Given the description of an element on the screen output the (x, y) to click on. 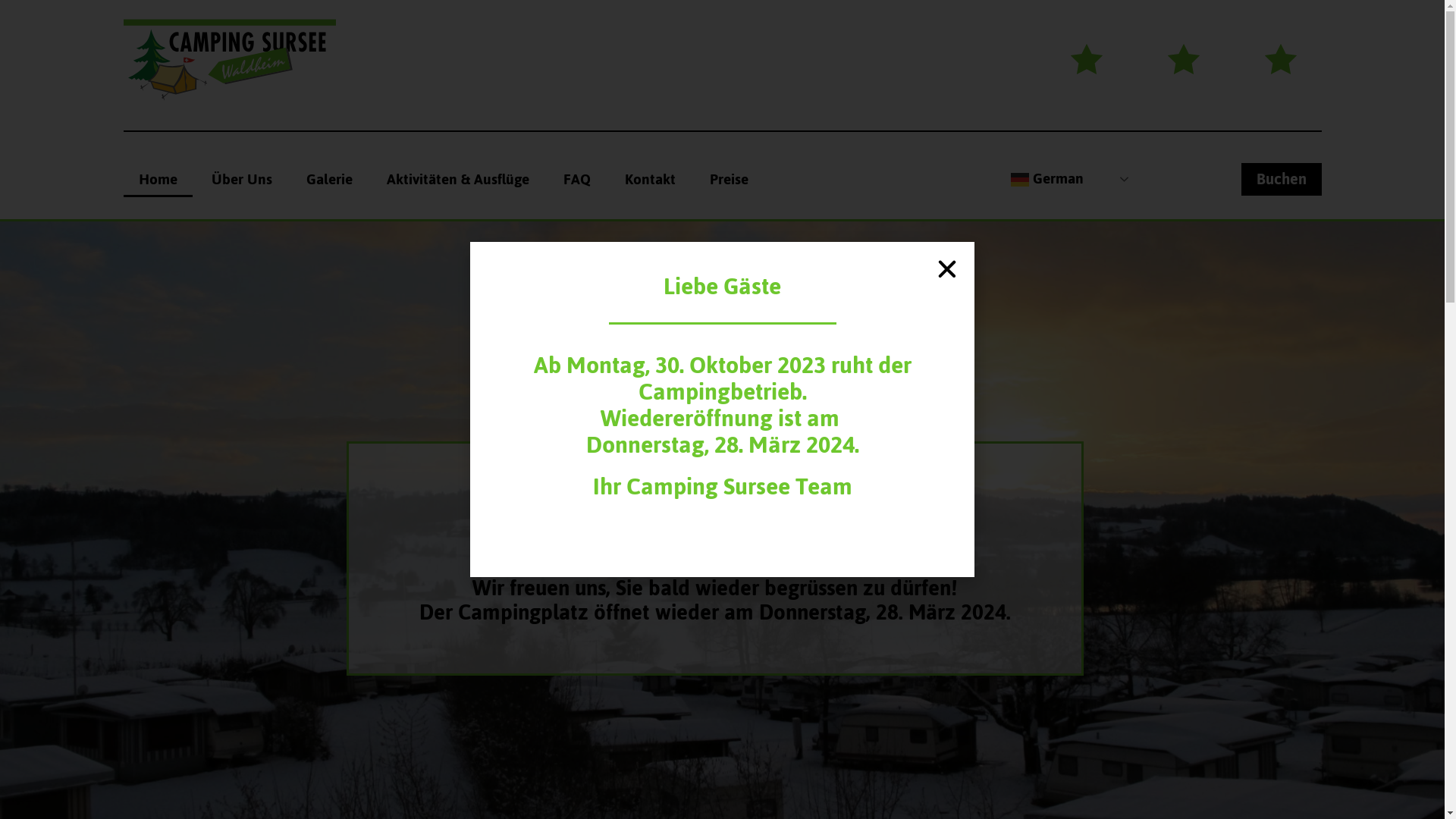
Buchen Element type: text (1280, 179)
Home Element type: text (156, 179)
Preise Element type: text (728, 179)
German Element type: text (1071, 178)
Kontakt Element type: text (649, 179)
FAQ Element type: text (576, 179)
Galerie Element type: text (329, 179)
